Given the description of an element on the screen output the (x, y) to click on. 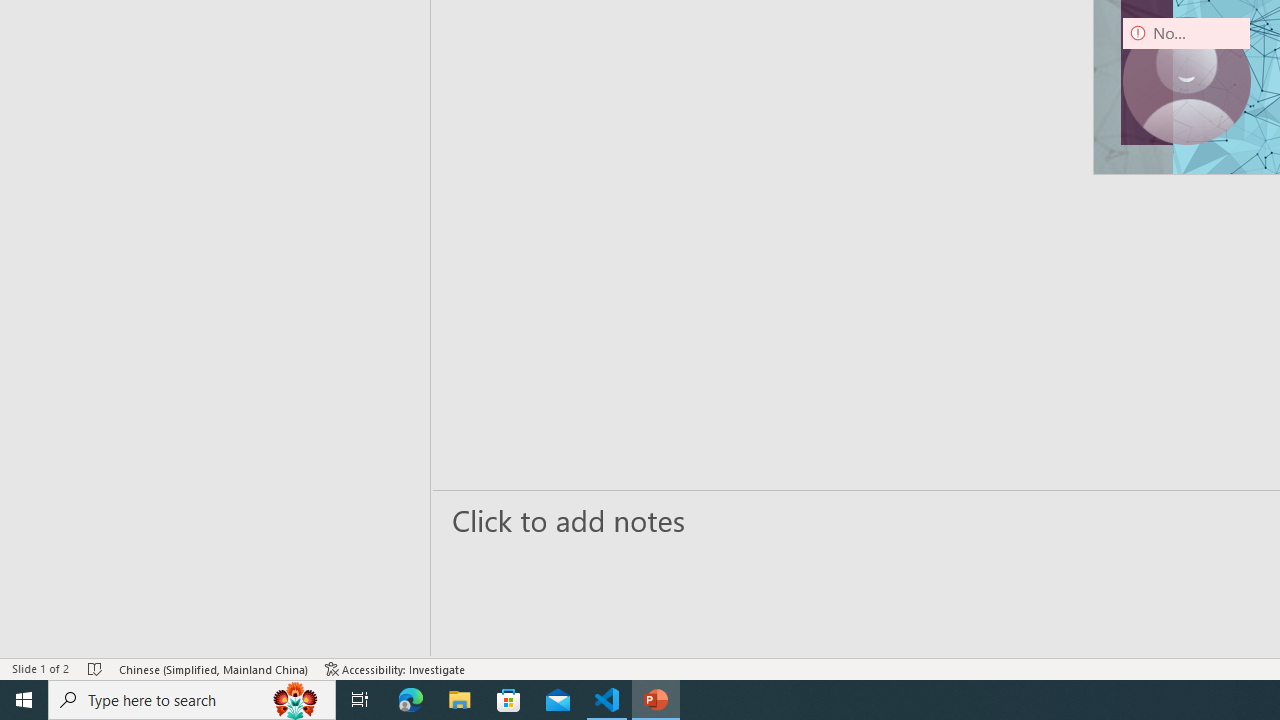
Camera 9, No camera detected. (1186, 80)
